Given the description of an element on the screen output the (x, y) to click on. 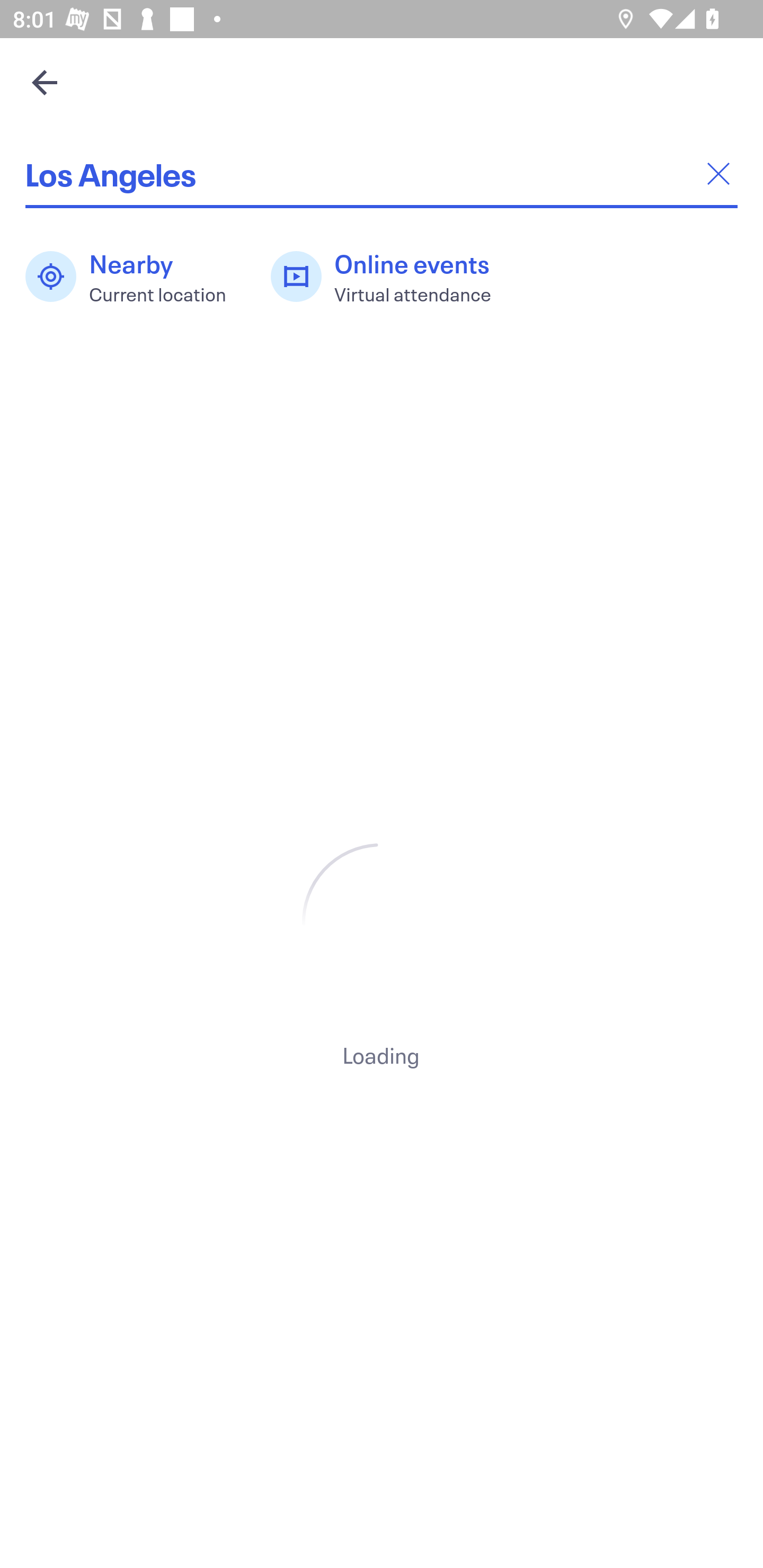
Navigate up (44, 82)
Los Angeles (381, 173)
Nearby Current location (135, 276)
Online events Virtual attendance (390, 276)
